Given the description of an element on the screen output the (x, y) to click on. 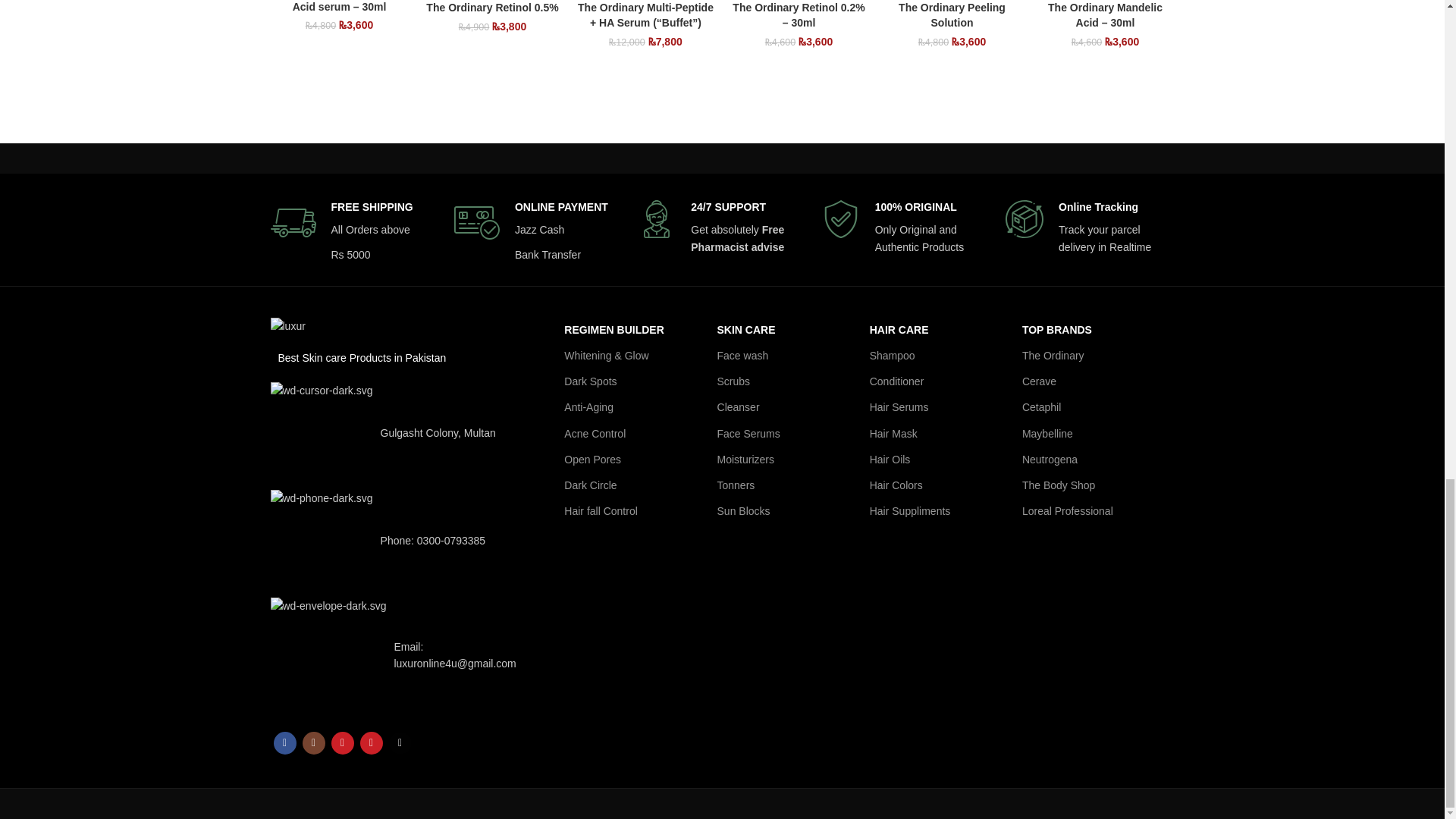
wd-cursor-dark.svg (320, 433)
wd-envelope-dark.svg (327, 655)
luxur (286, 325)
wd-phone-dark.svg (320, 540)
